Given the description of an element on the screen output the (x, y) to click on. 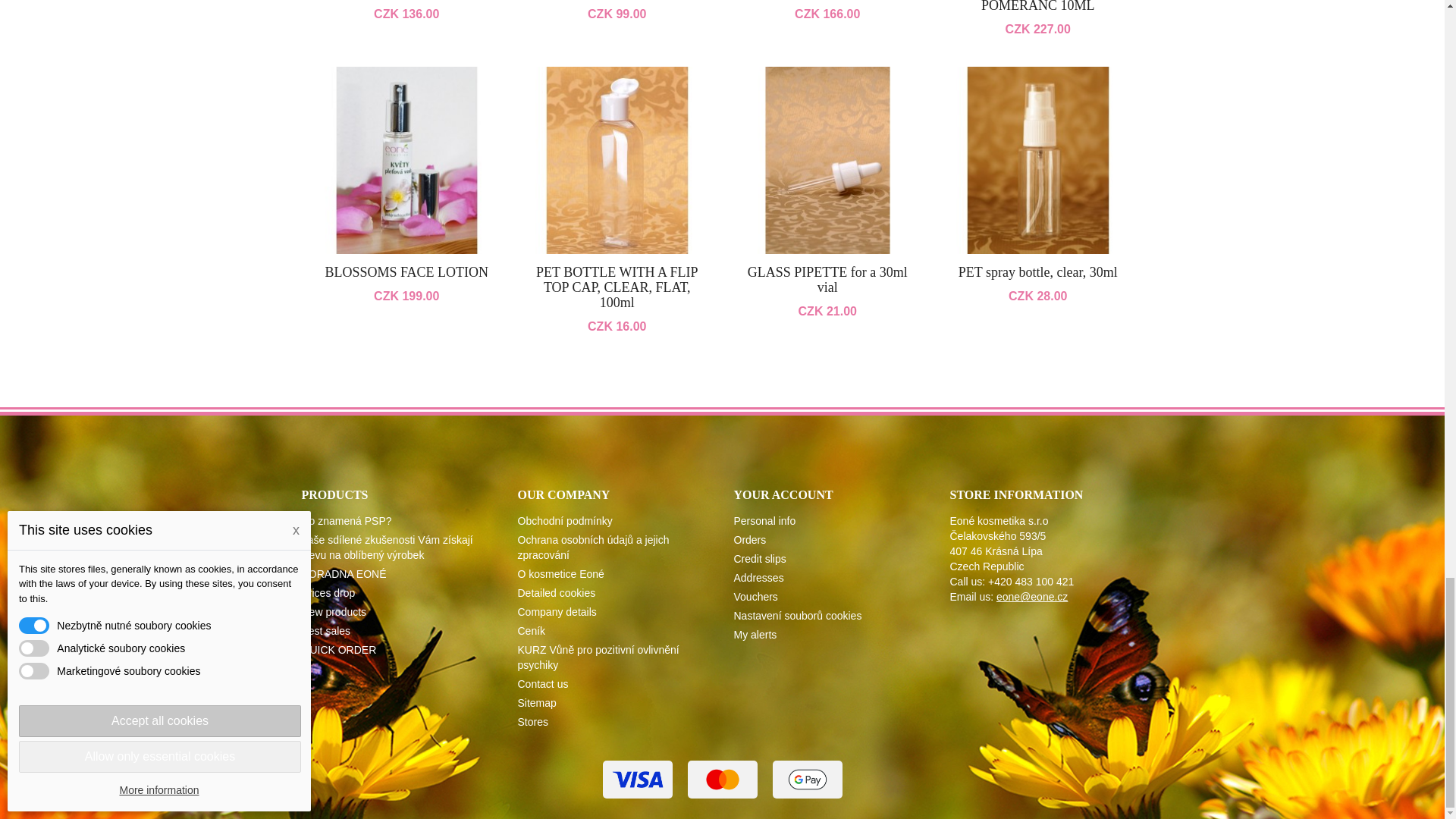
Our new products (333, 612)
Our special products (328, 592)
